Given the description of an element on the screen output the (x, y) to click on. 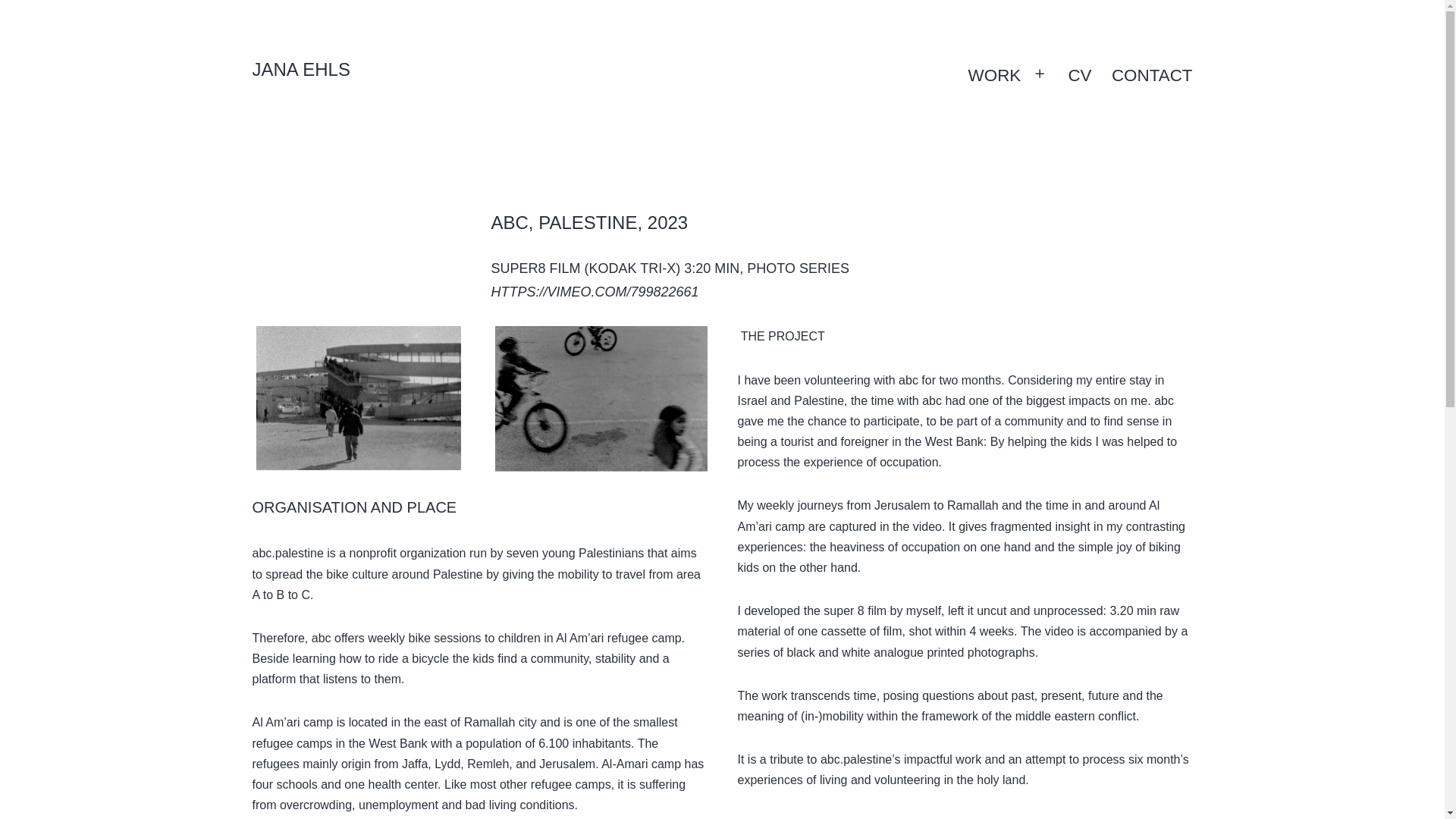
WORK (994, 75)
JANA EHLS (300, 68)
CONTACT (1152, 75)
CV (1079, 75)
